Given the description of an element on the screen output the (x, y) to click on. 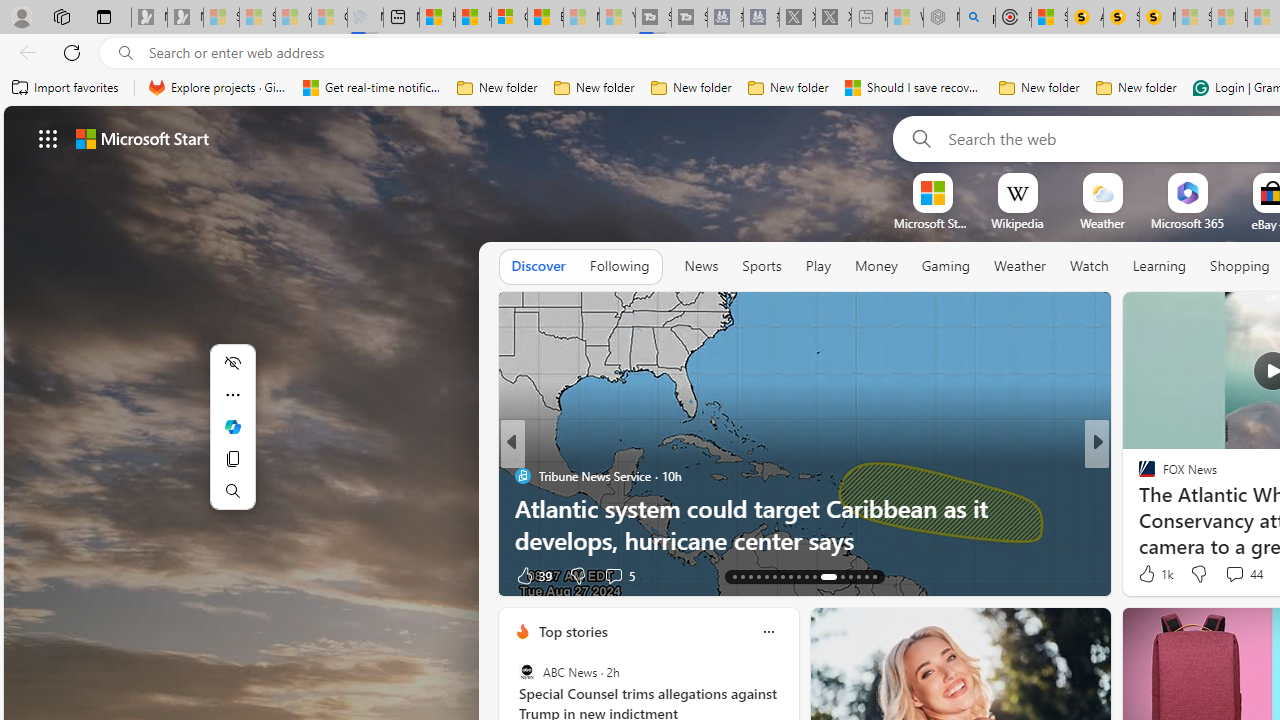
AutomationID: tab-22 (806, 576)
View comments 3 Comment (1234, 574)
Copy (232, 458)
AutomationID: tab-13 (733, 576)
poe - Search (977, 17)
